Given the description of an element on the screen output the (x, y) to click on. 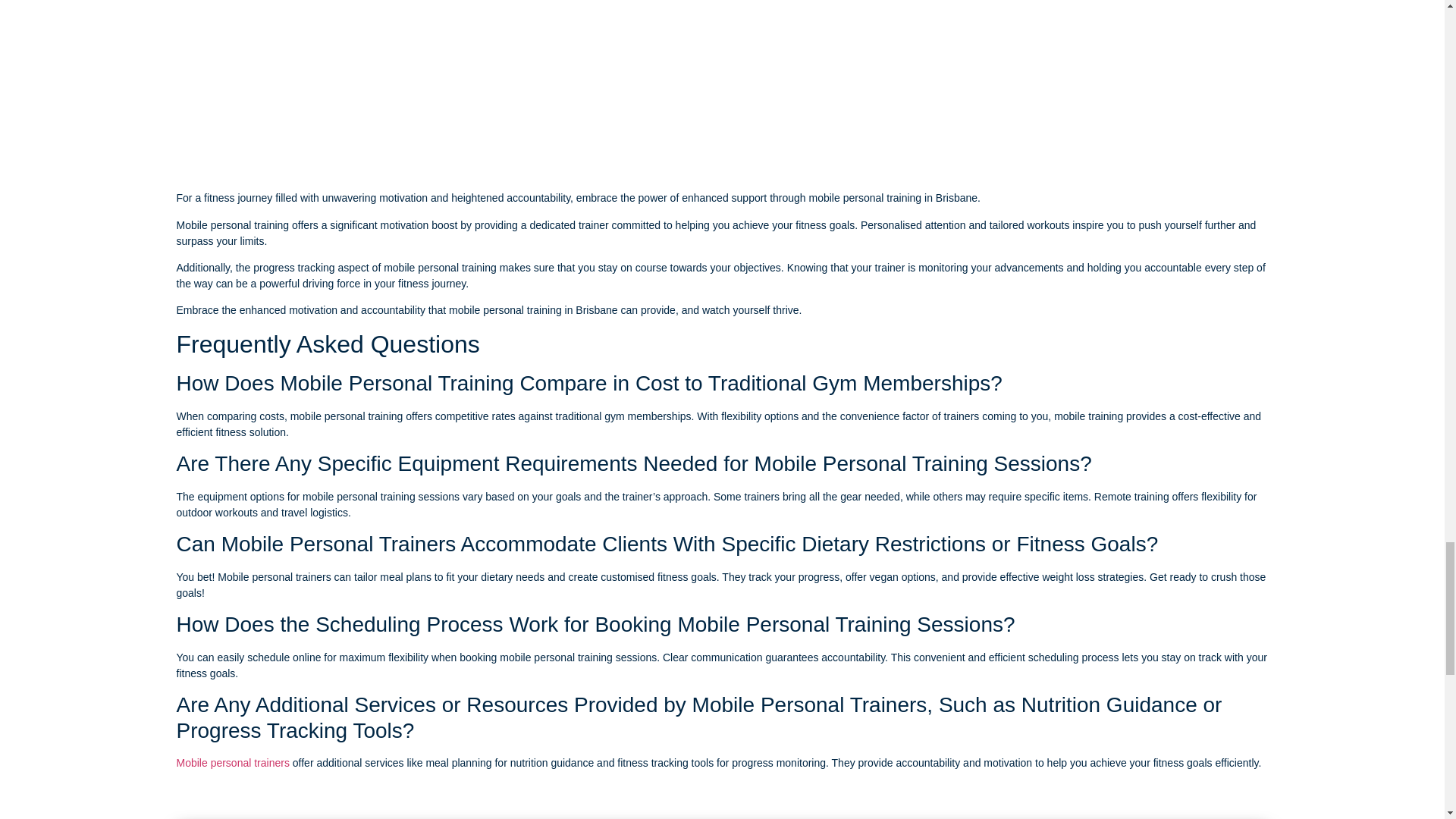
Mobile personal trainers (232, 762)
